Given the description of an element on the screen output the (x, y) to click on. 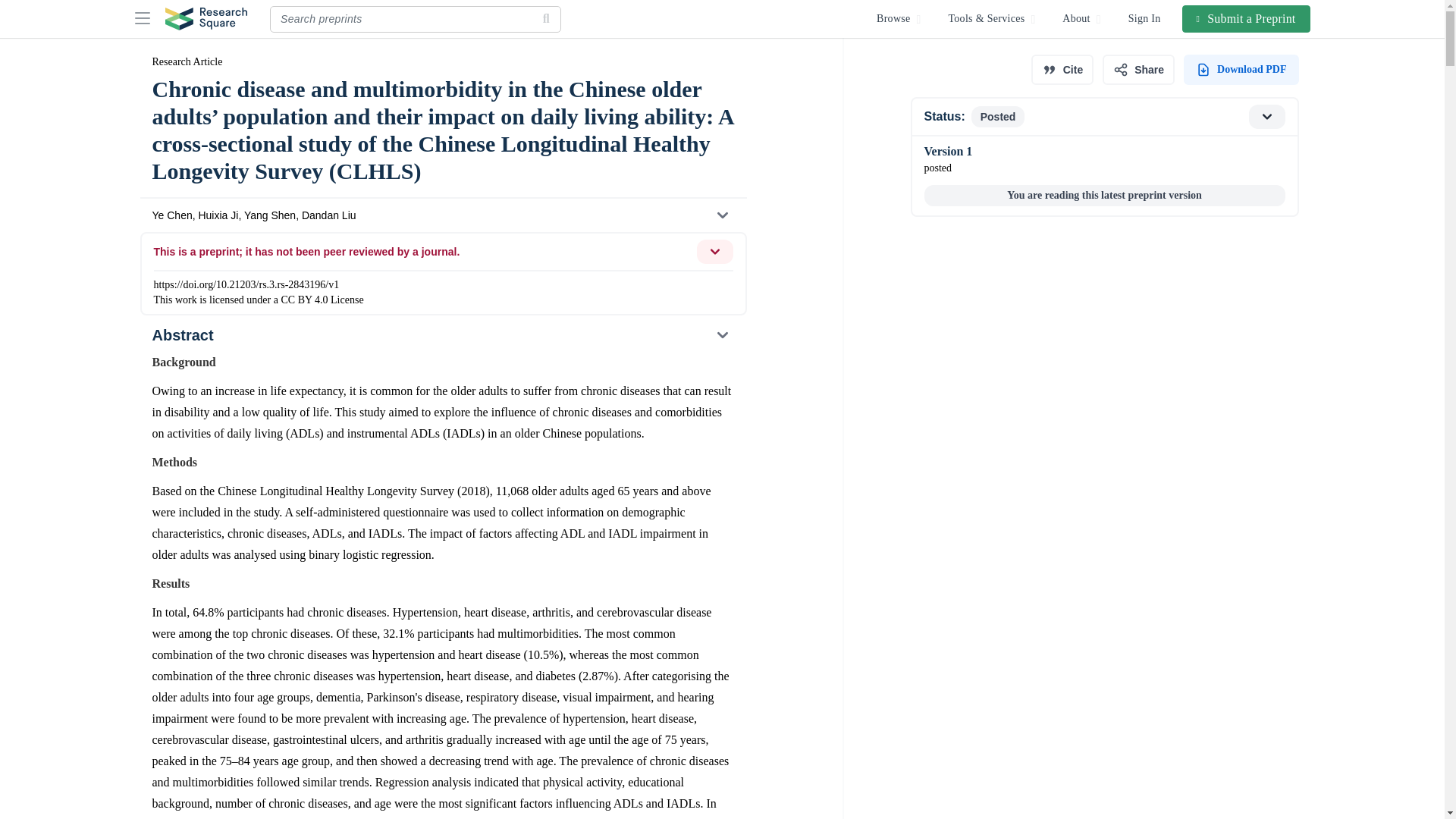
Submit a Preprint (1246, 18)
Abstract (442, 335)
Sign In (1144, 18)
Ye Chen, Huixia Ji, Yang Shen, Dandan Liu (442, 215)
